Given the description of an element on the screen output the (x, y) to click on. 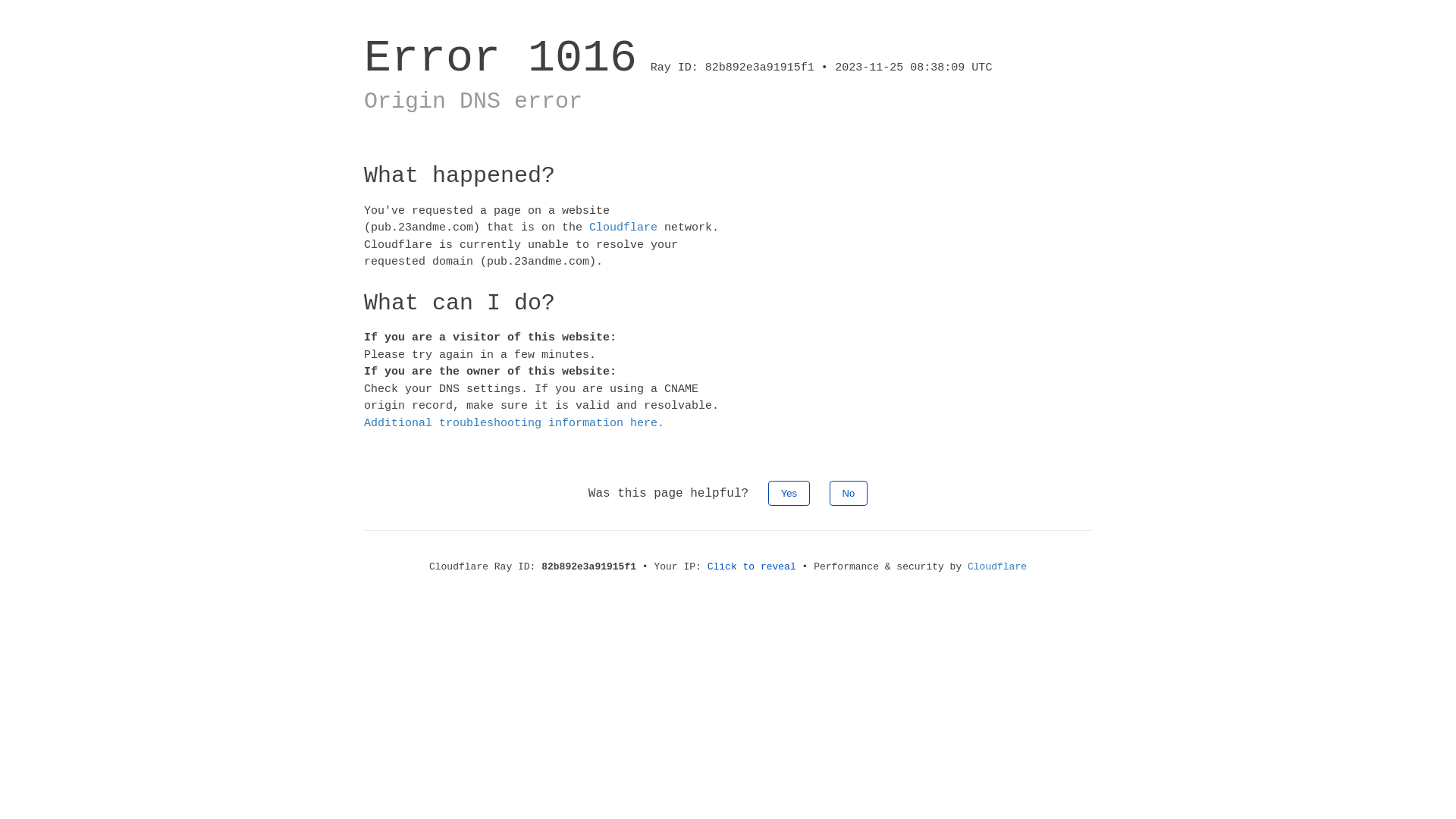
Cloudflare Element type: text (996, 566)
Cloudflare Element type: text (623, 227)
No Element type: text (848, 492)
Additional troubleshooting information here. Element type: text (514, 423)
Click to reveal Element type: text (751, 566)
Yes Element type: text (788, 492)
